Given the description of an element on the screen output the (x, y) to click on. 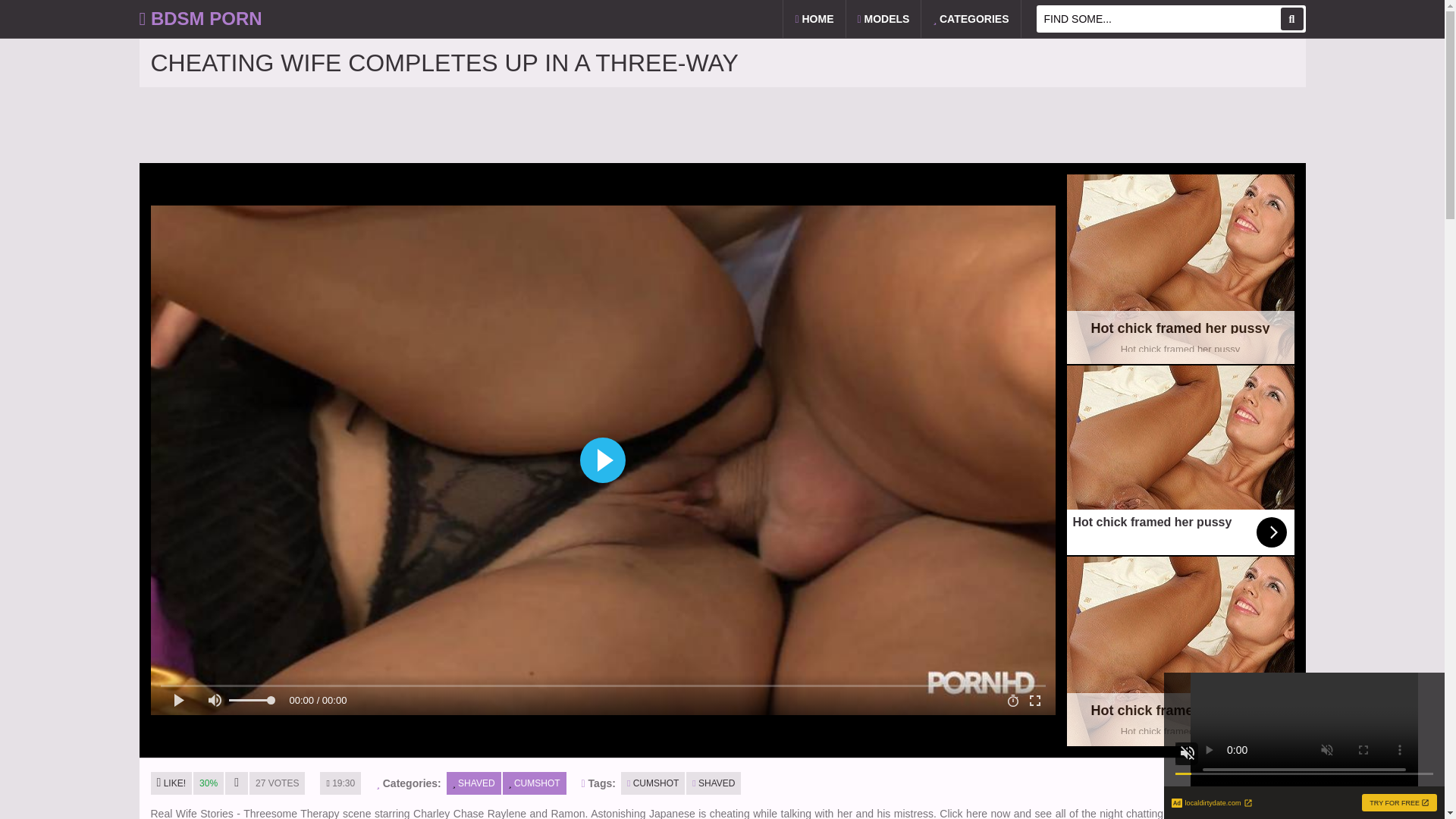
CUMSHOT (534, 783)
BDSM PORN (200, 18)
CUMSHOT (652, 783)
LIKE! (170, 783)
CATEGORIES (970, 18)
MODELS (883, 18)
HOME (1179, 651)
Find (813, 18)
